Given the description of an element on the screen output the (x, y) to click on. 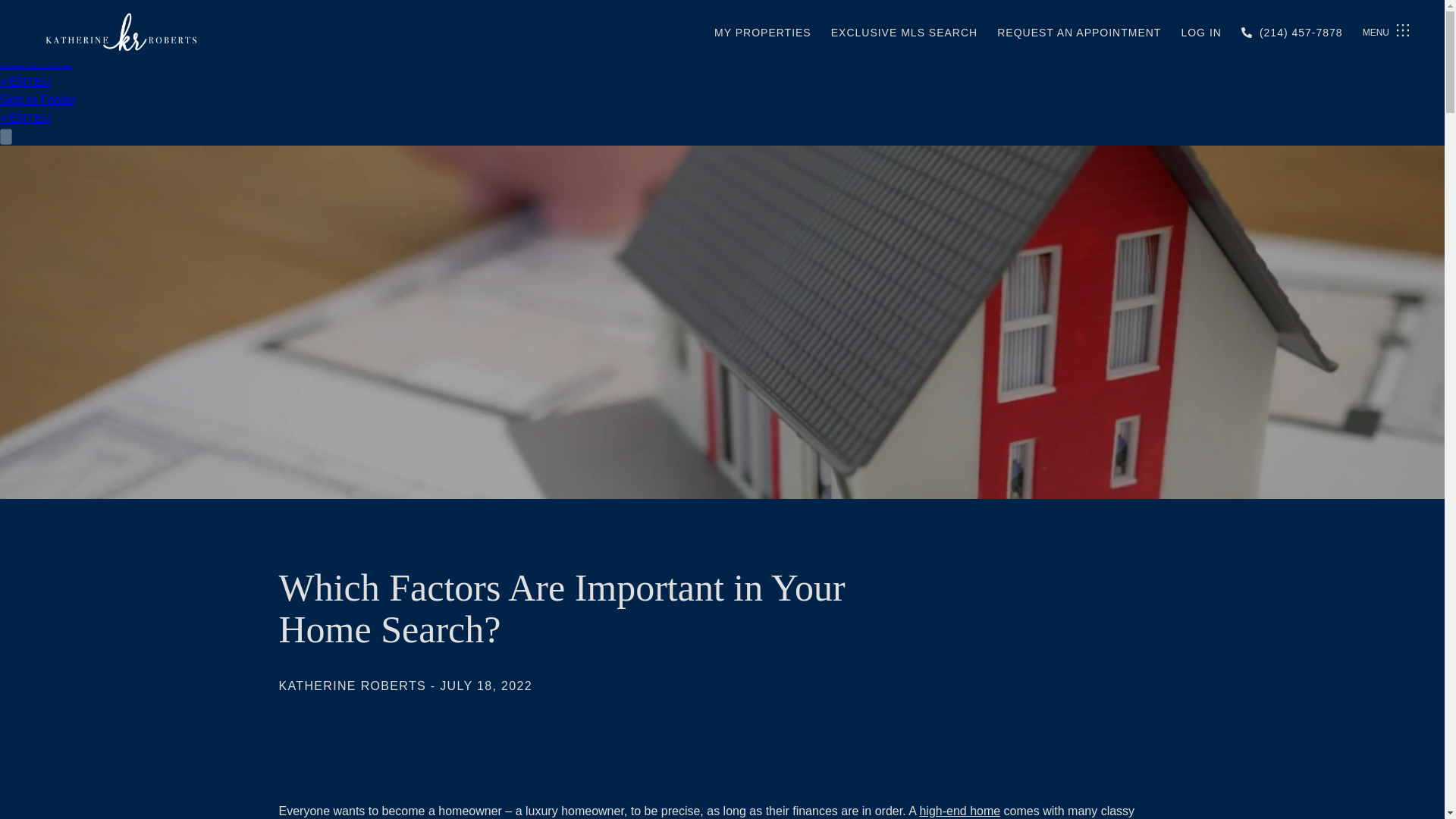
high-end home (959, 810)
MY PROPERTIES (762, 32)
MENU (1387, 32)
LOG IN (1200, 32)
REQUEST AN APPOINTMENT (1078, 32)
EXCLUSIVE MLS SEARCH (904, 32)
